Given the description of an element on the screen output the (x, y) to click on. 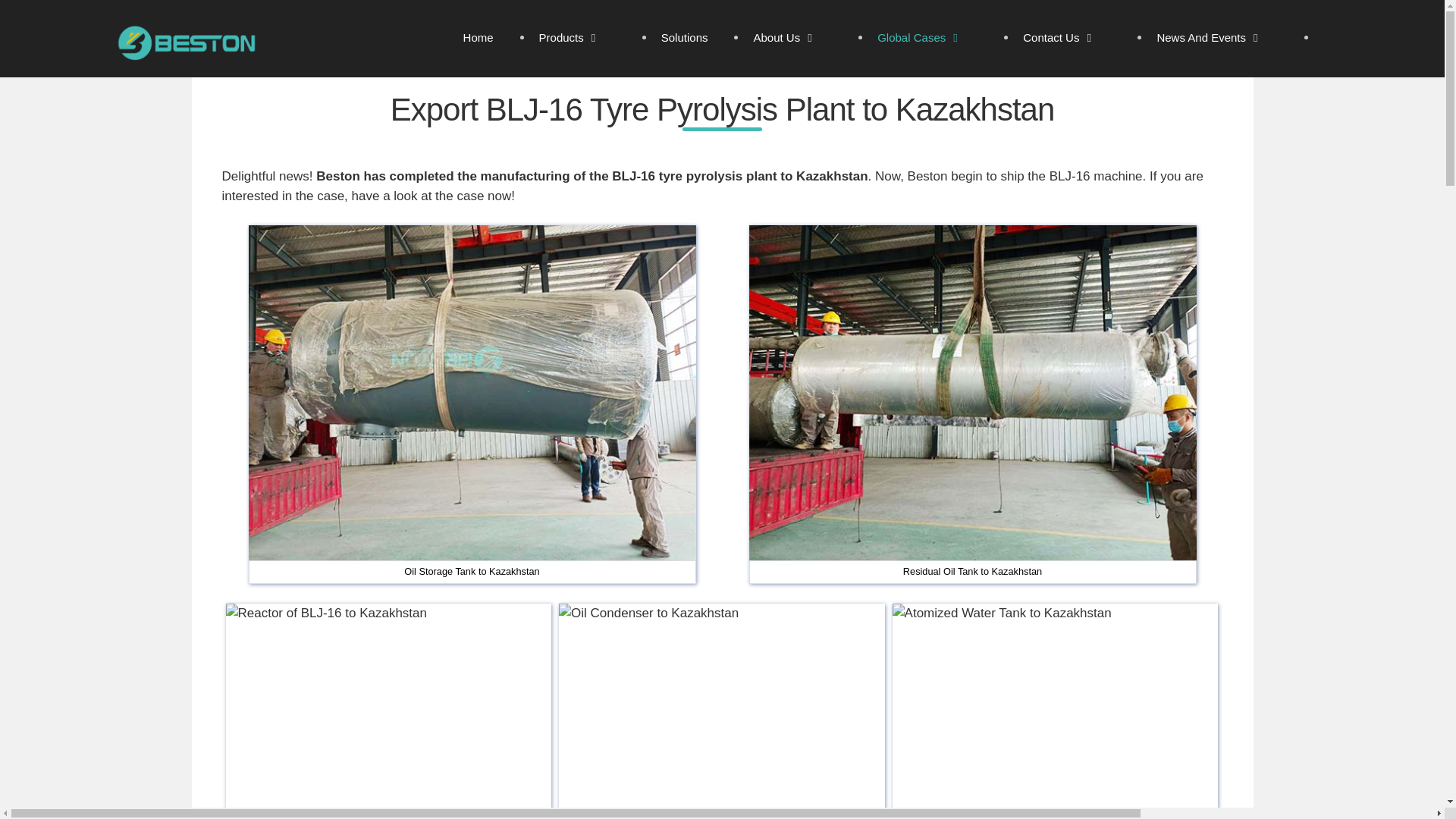
Global Cases (934, 37)
Products (585, 37)
Home (486, 37)
About Us (799, 37)
Solutions (692, 37)
